Given the description of an element on the screen output the (x, y) to click on. 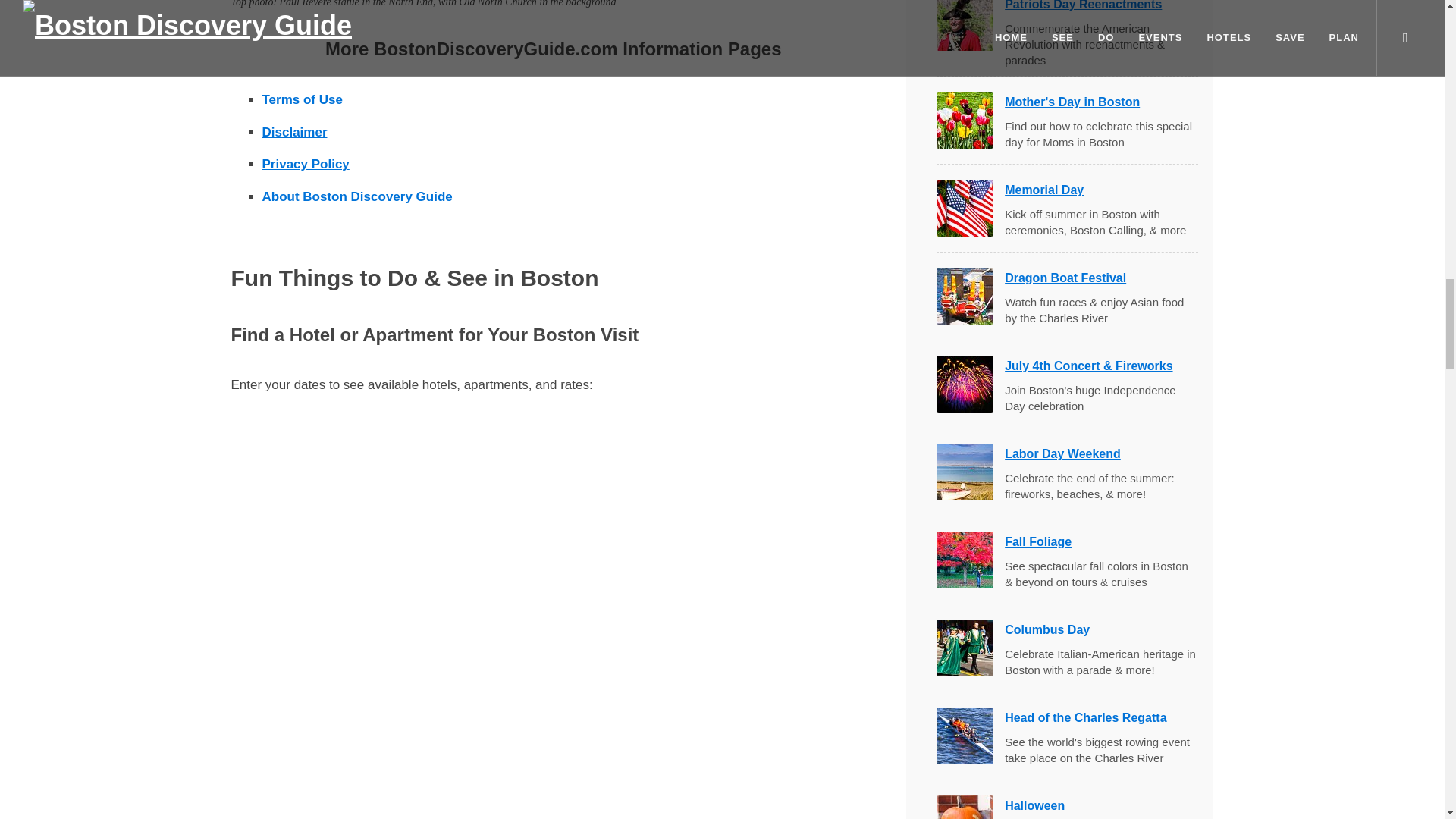
November in Boston (964, 471)
June in Boston (964, 119)
September in Boston (964, 383)
Fall foliage in Boston - where to see it (964, 559)
July in Boston (964, 207)
Columbus Day events in Boston (964, 647)
Patriots Day in Boston (964, 25)
August in Boston (964, 295)
October in Boston (964, 807)
Head of the Charles Regatta in Boston (964, 735)
